Given the description of an element on the screen output the (x, y) to click on. 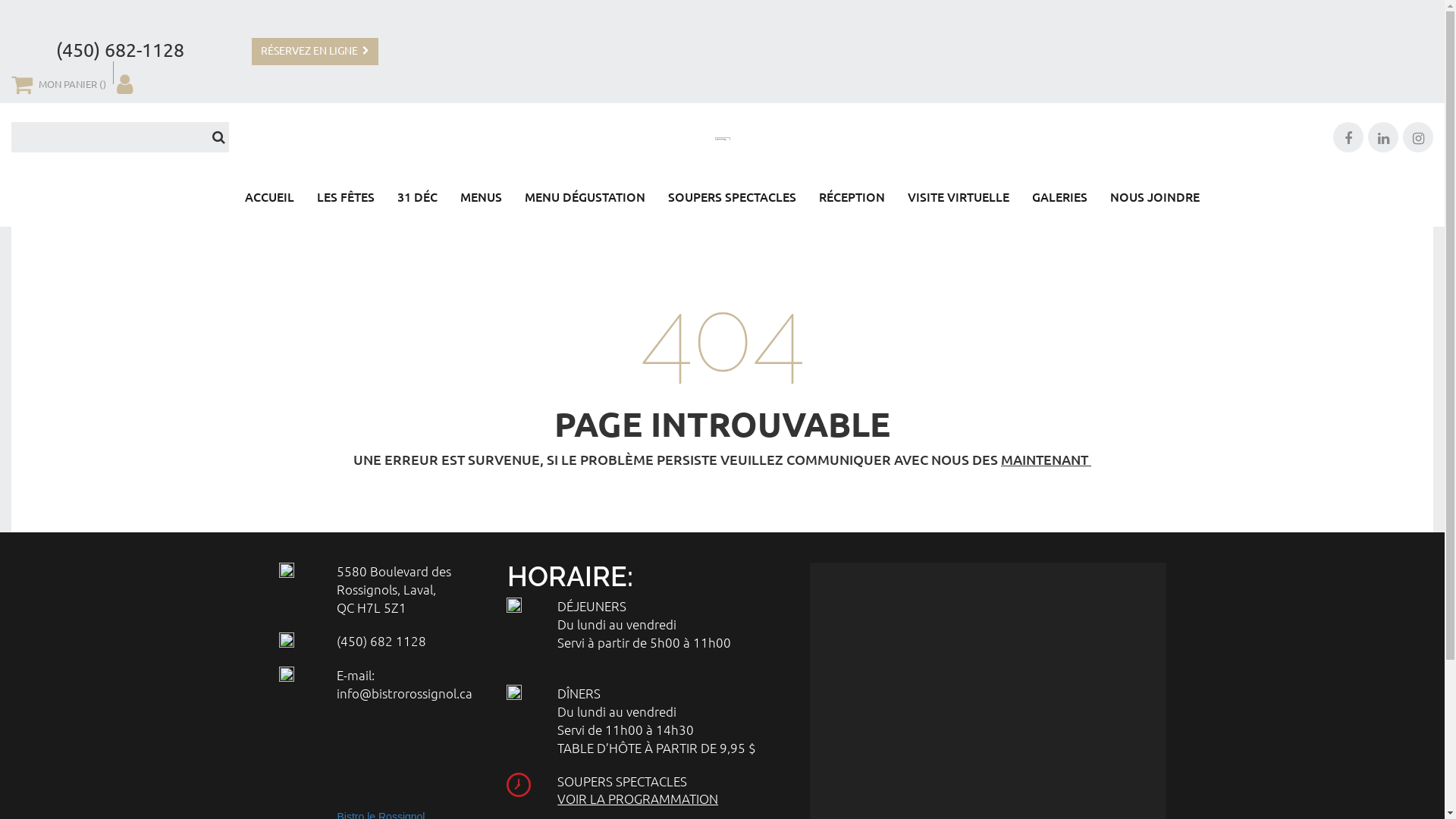
GALERIES Element type: text (1059, 198)
ACCUEIL Element type: text (269, 198)
NOUS JOINDRE Element type: text (1154, 198)
SOUPERS SPECTACLES Element type: text (732, 198)
MON PANIER () Element type: text (58, 82)
VOIR LA PROGRAMMATION Element type: text (637, 798)
(450) 682 1128 Element type: text (381, 640)
MAINTENANT  Element type: text (1046, 458)
MENUS Element type: text (481, 198)
E-mail: info@bistrorossignol.ca Element type: text (404, 683)
(450) 682-1128 Element type: text (120, 49)
VISITE VIRTUELLE Element type: text (958, 198)
